Given the description of an element on the screen output the (x, y) to click on. 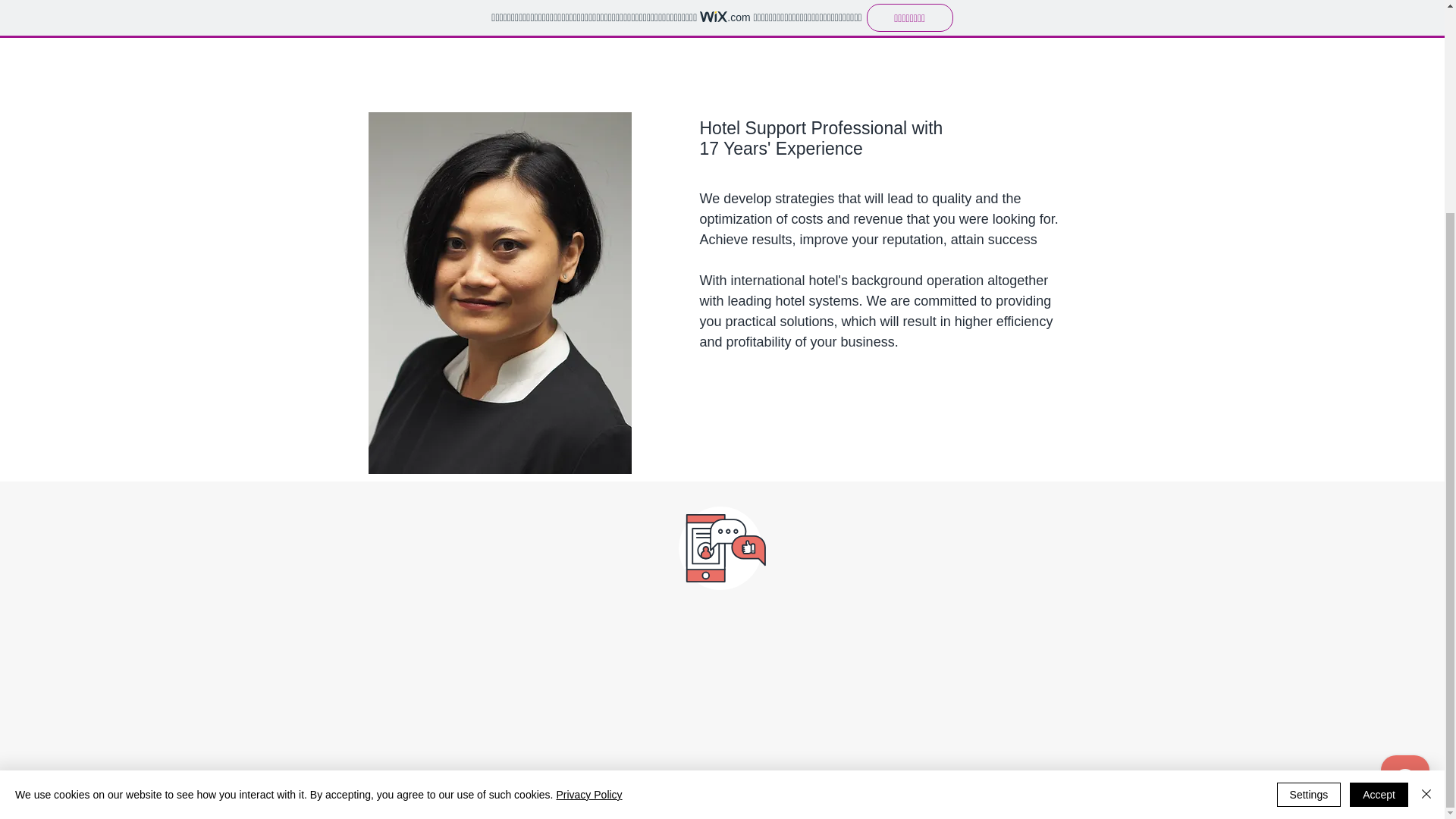
Settings (1308, 517)
Wix.com (862, 794)
Privacy Policy (588, 517)
Accept (1378, 517)
